Given the description of an element on the screen output the (x, y) to click on. 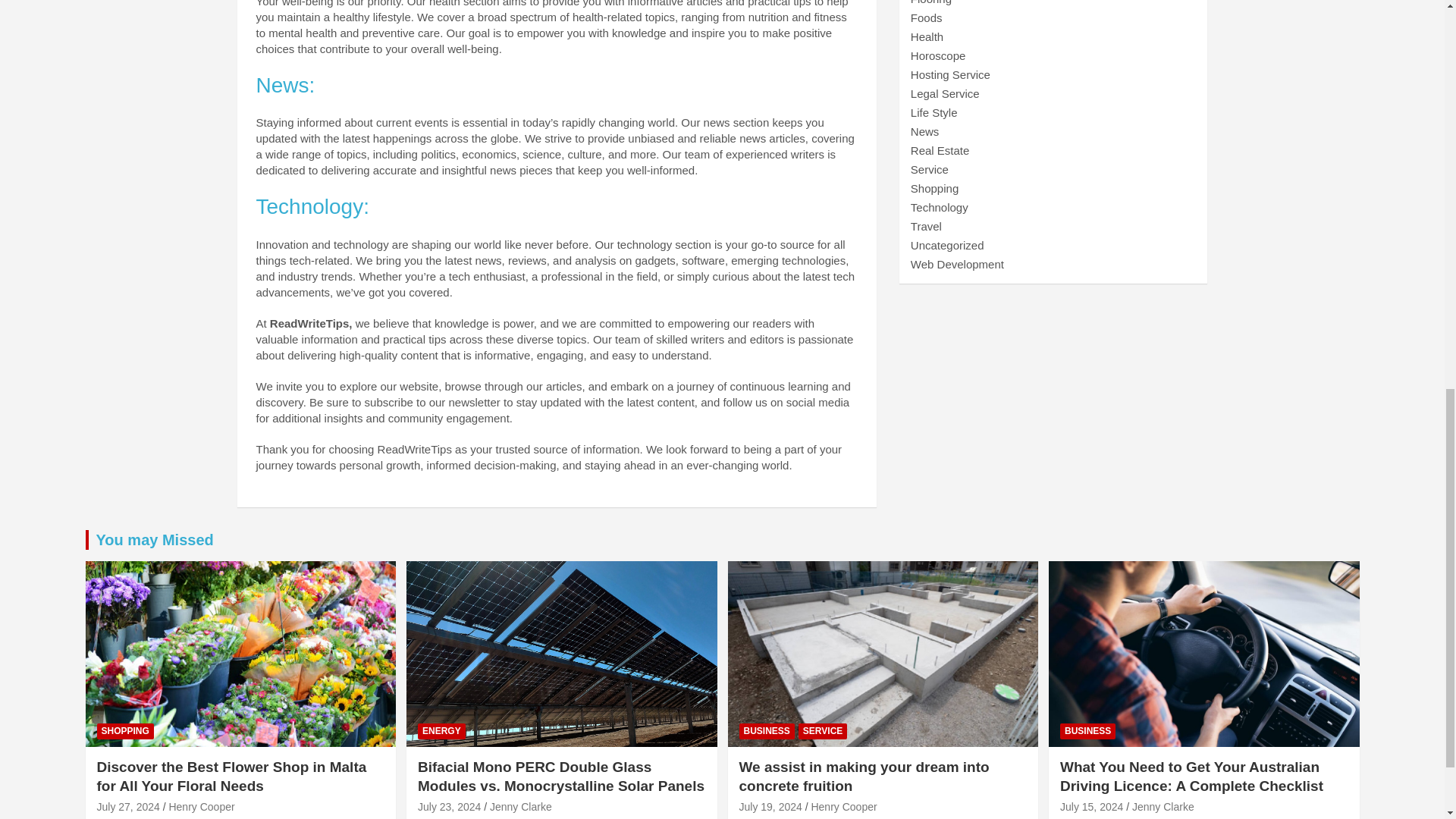
We assist in making your dream into concrete fruition (770, 806)
